Given the description of an element on the screen output the (x, y) to click on. 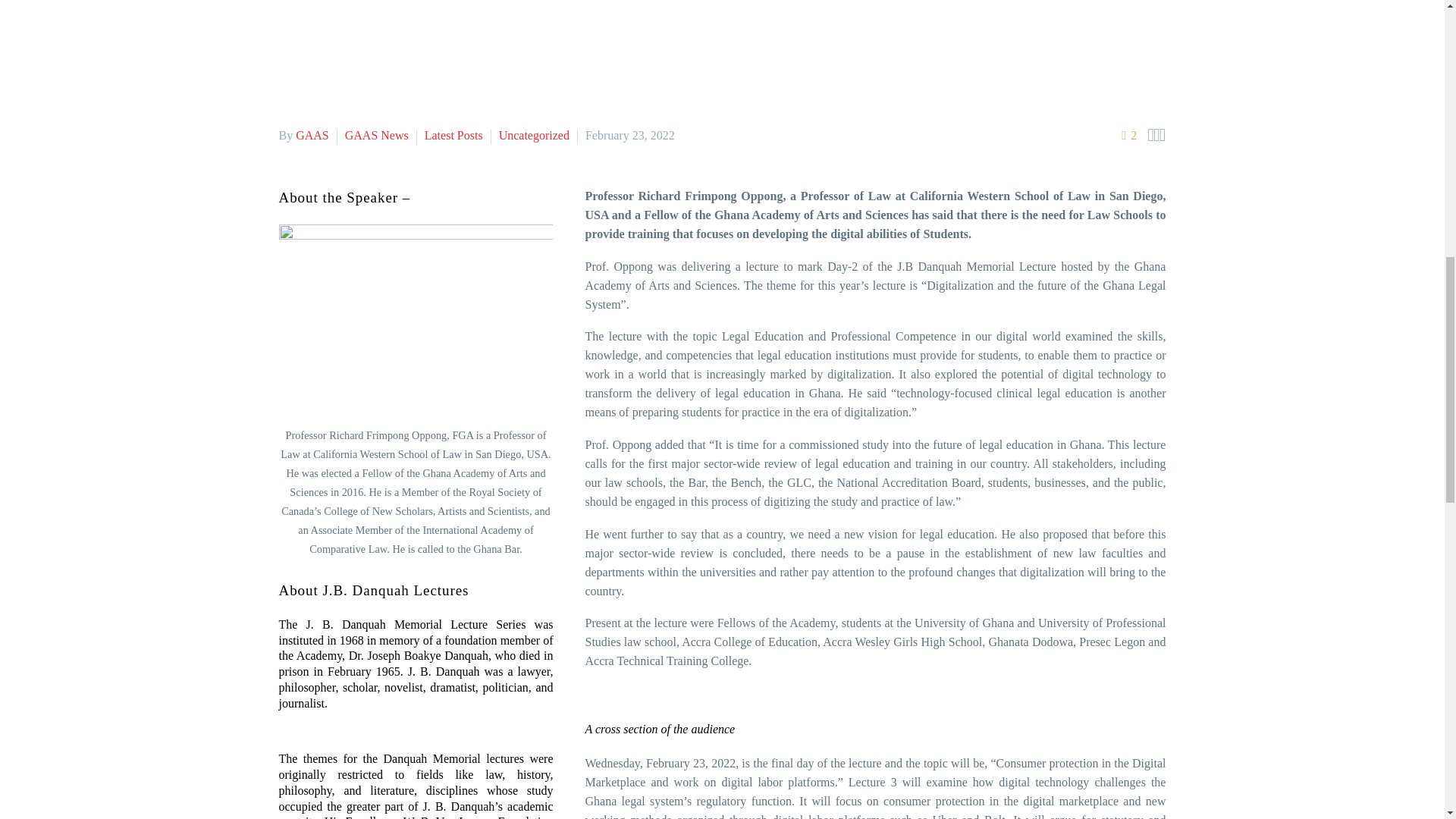
View all posts in GAAS News (377, 134)
View all posts in Latest Posts (454, 134)
View all posts in Uncategorized (534, 134)
